Given the description of an element on the screen output the (x, y) to click on. 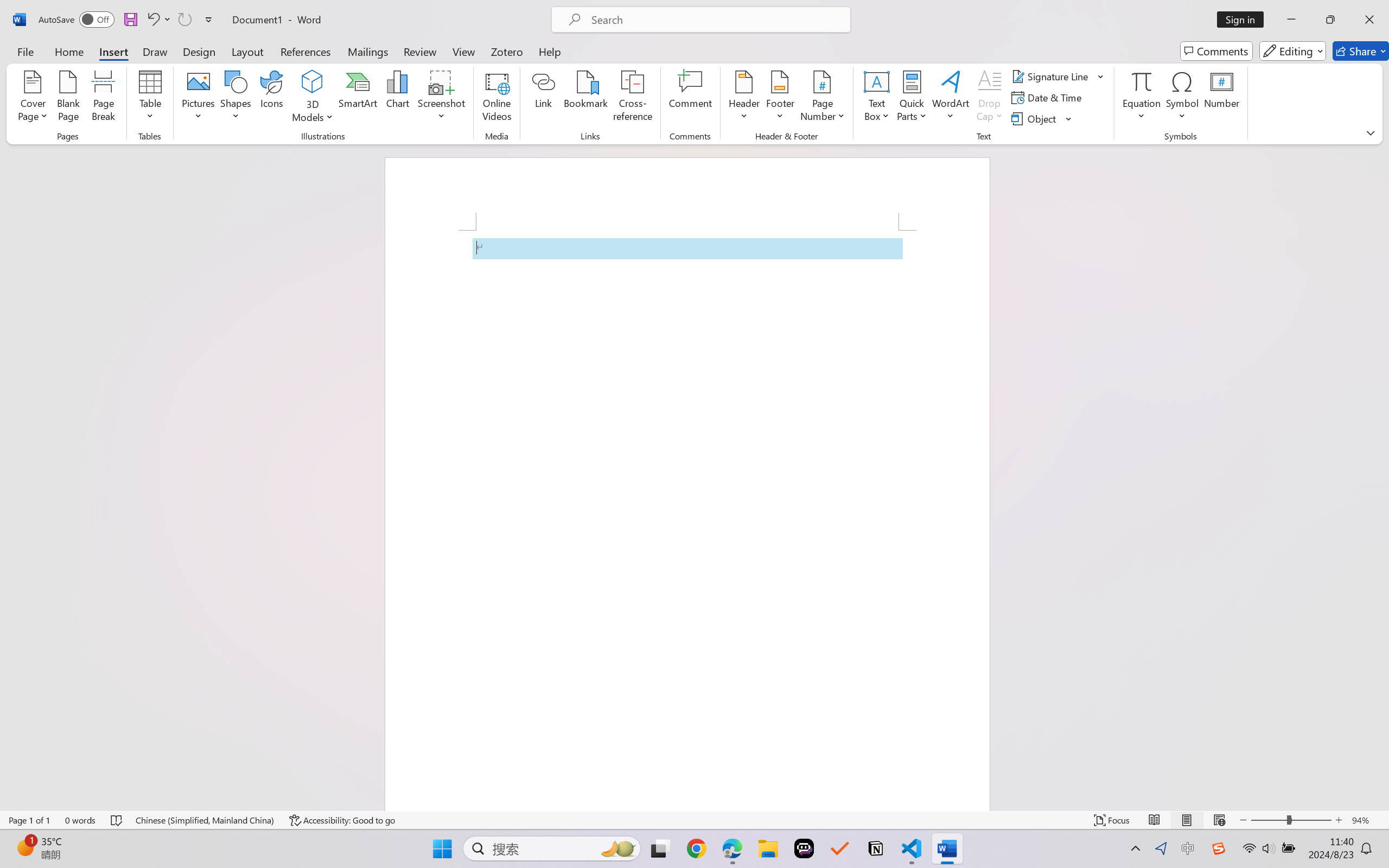
Symbol (1181, 97)
Date & Time... (1048, 97)
Language Chinese (Simplified, Mainland China) (205, 819)
Page Break (103, 97)
Sign in (1244, 19)
3D Models (312, 97)
Cross-reference... (632, 97)
